Given the description of an element on the screen output the (x, y) to click on. 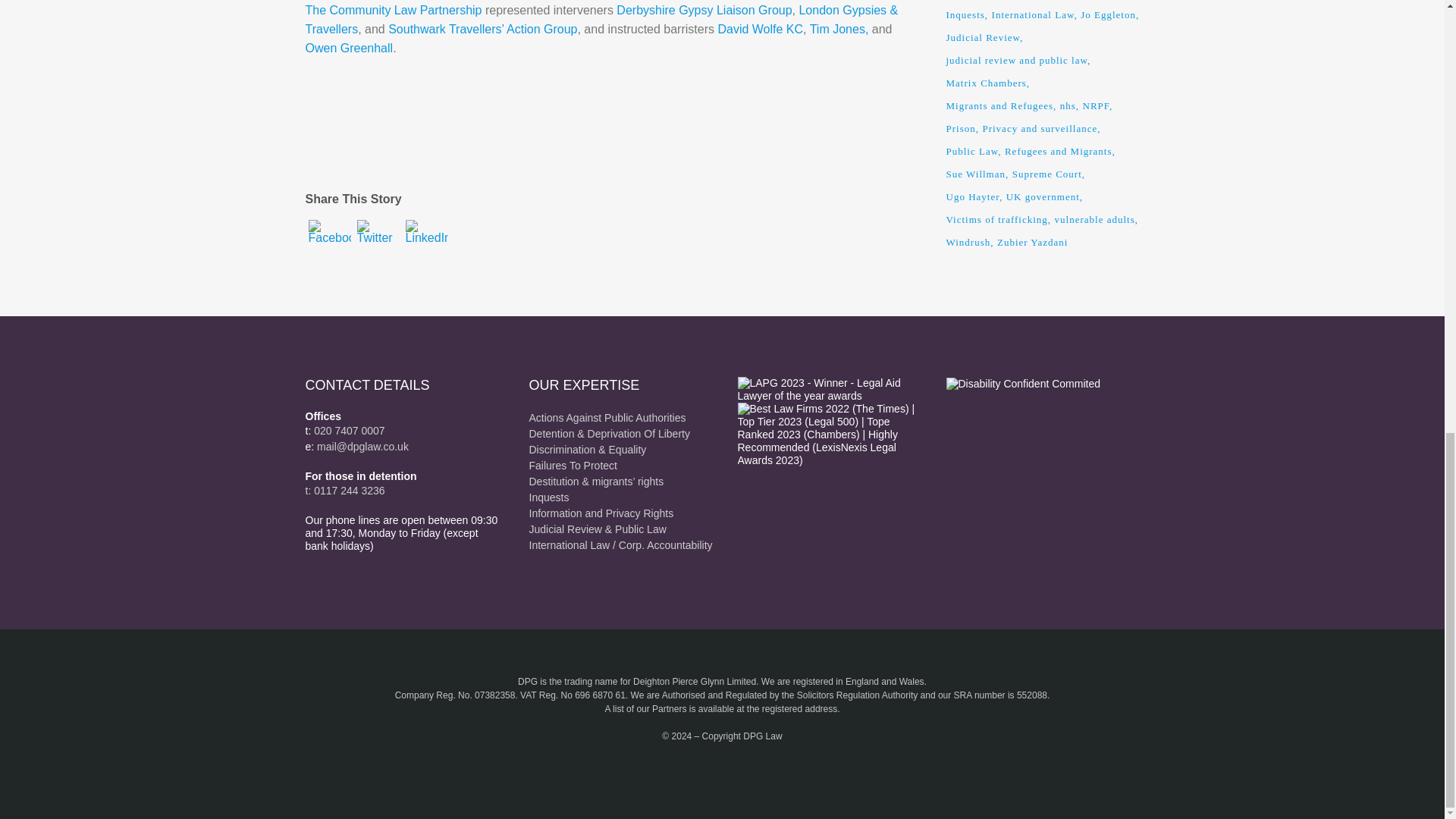
Facebook (328, 242)
LinkedIn (425, 242)
Twitter (377, 242)
